Given the description of an element on the screen output the (x, y) to click on. 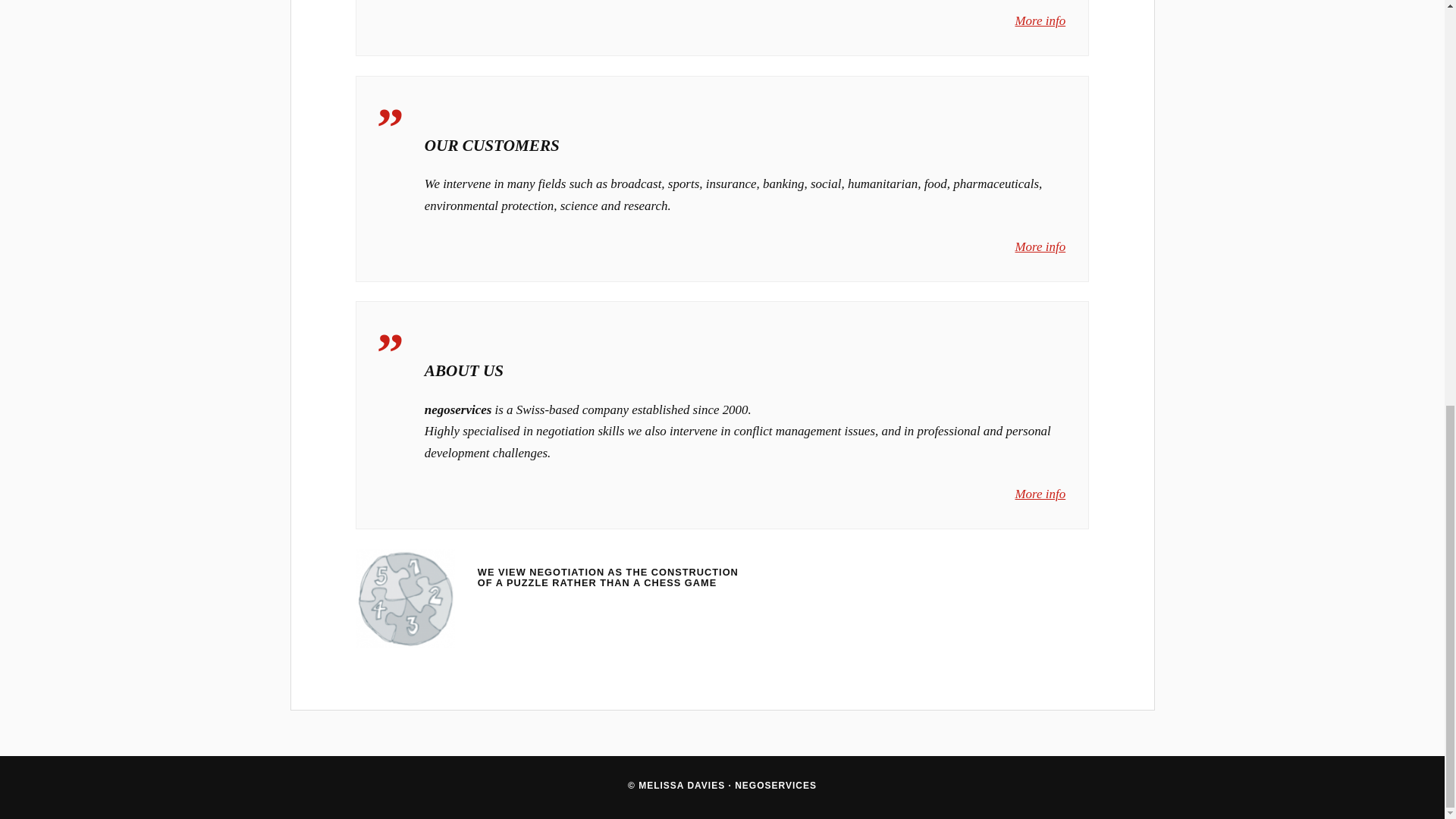
More info (1039, 246)
More info (1039, 493)
More info (1039, 20)
